Given the description of an element on the screen output the (x, y) to click on. 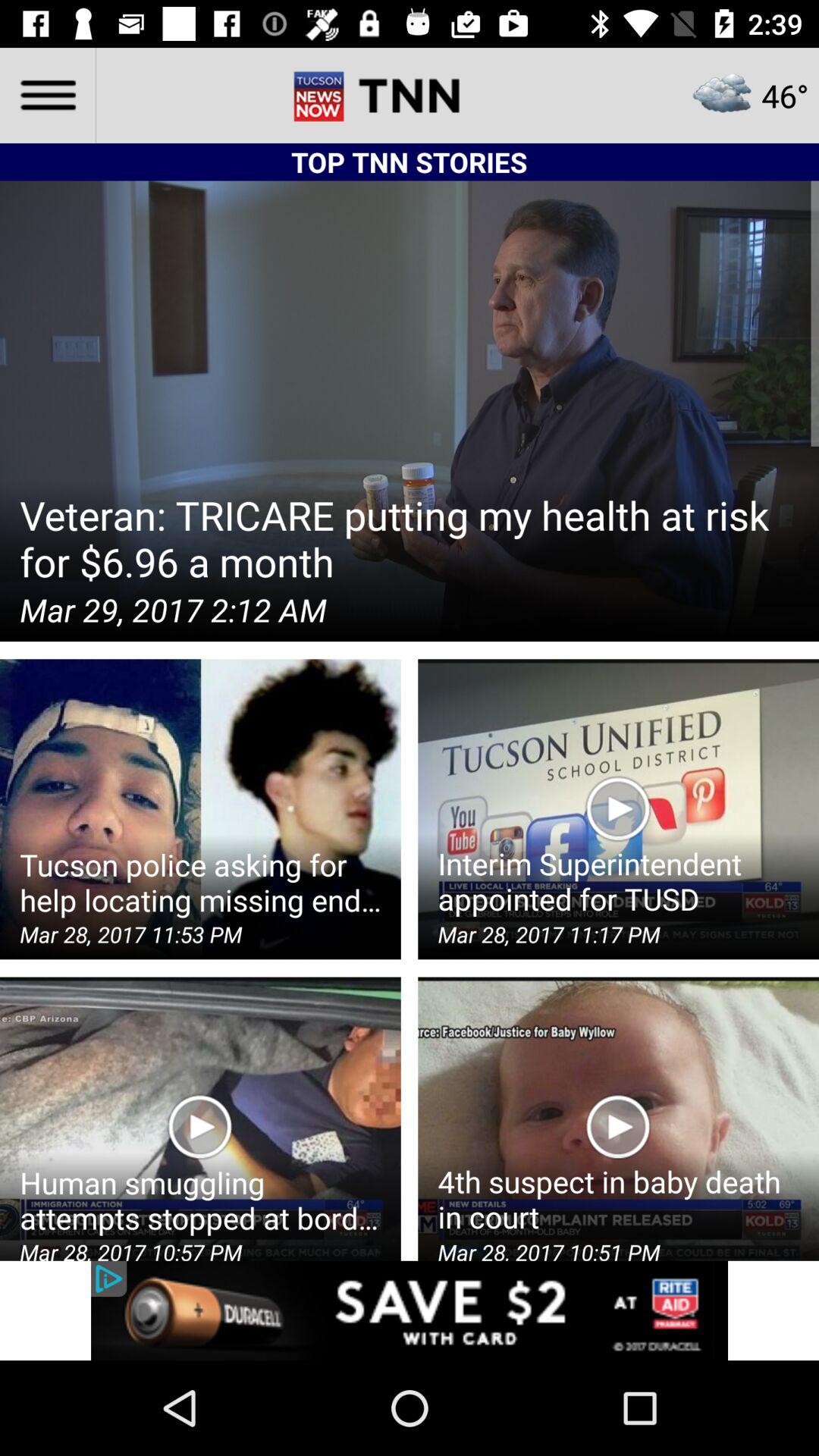
click on second video in second row from right side (618, 809)
